Given the description of an element on the screen output the (x, y) to click on. 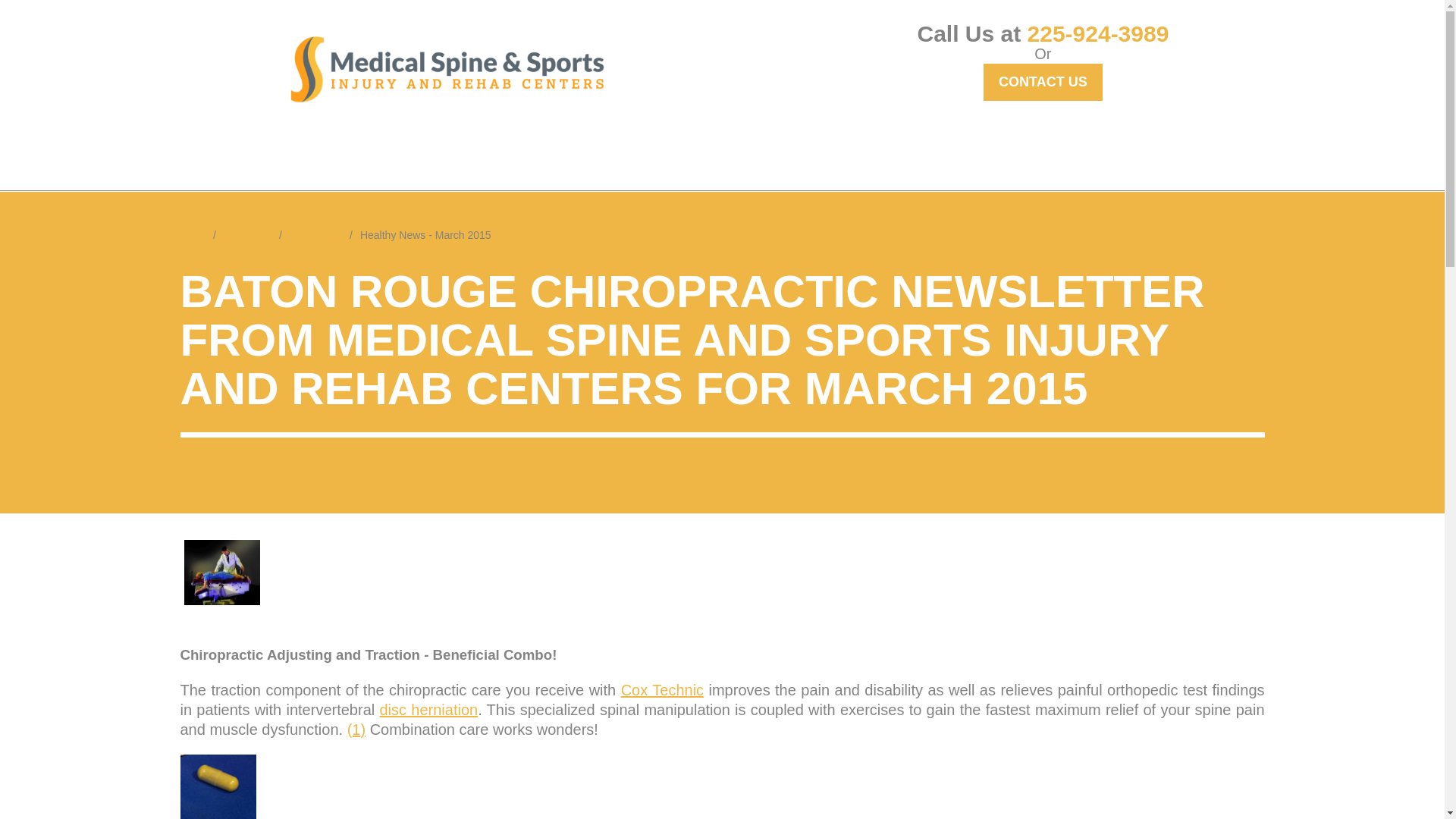
CONTACT US (1043, 81)
GET RELIEF (353, 153)
225-924-3989 (1098, 33)
Medical Spine and Sports Injury and Rehab Centers Home (446, 69)
ID YOUR PAIN (467, 153)
